Given the description of an element on the screen output the (x, y) to click on. 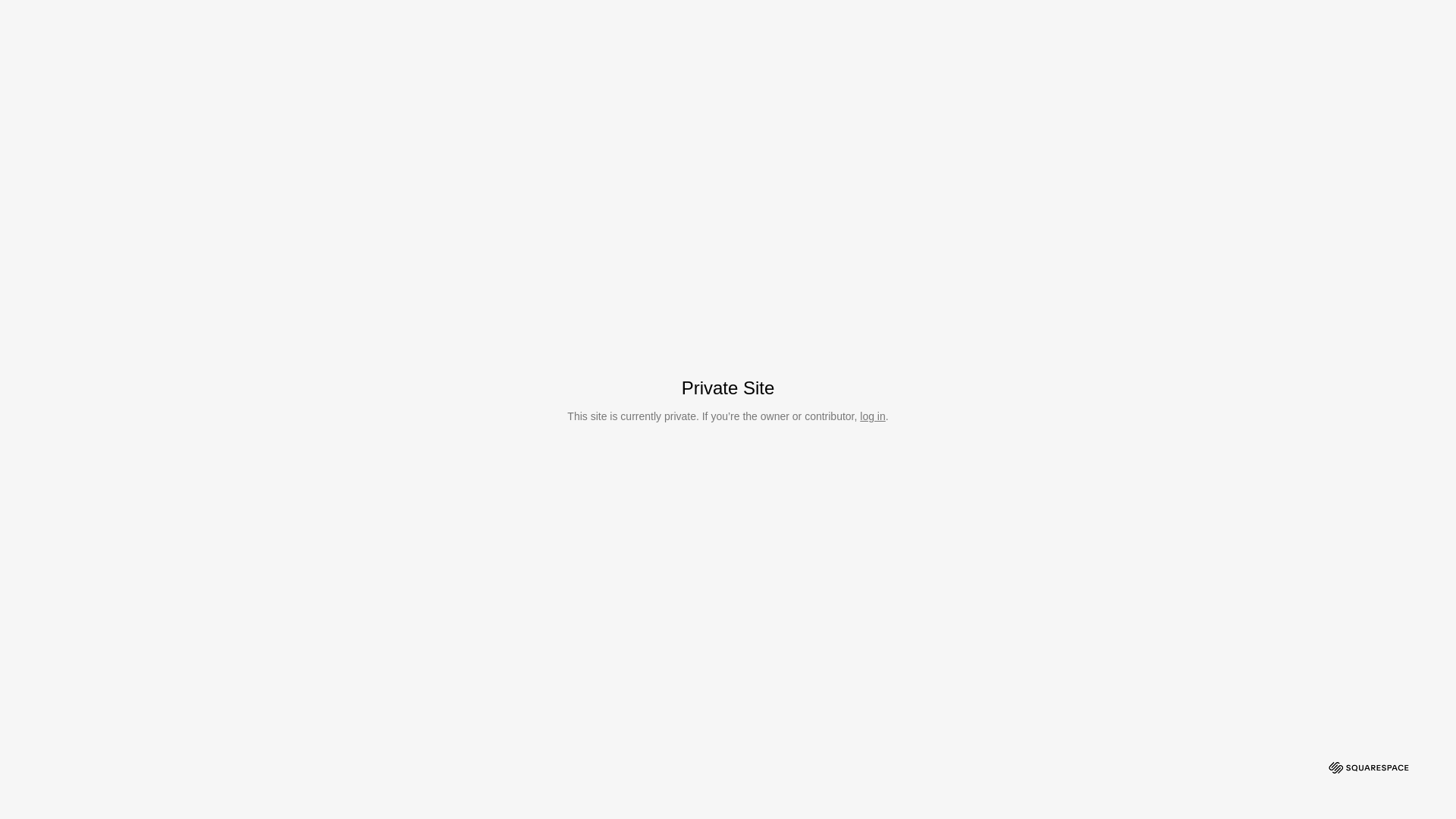
log in Element type: text (871, 416)
